Given the description of an element on the screen output the (x, y) to click on. 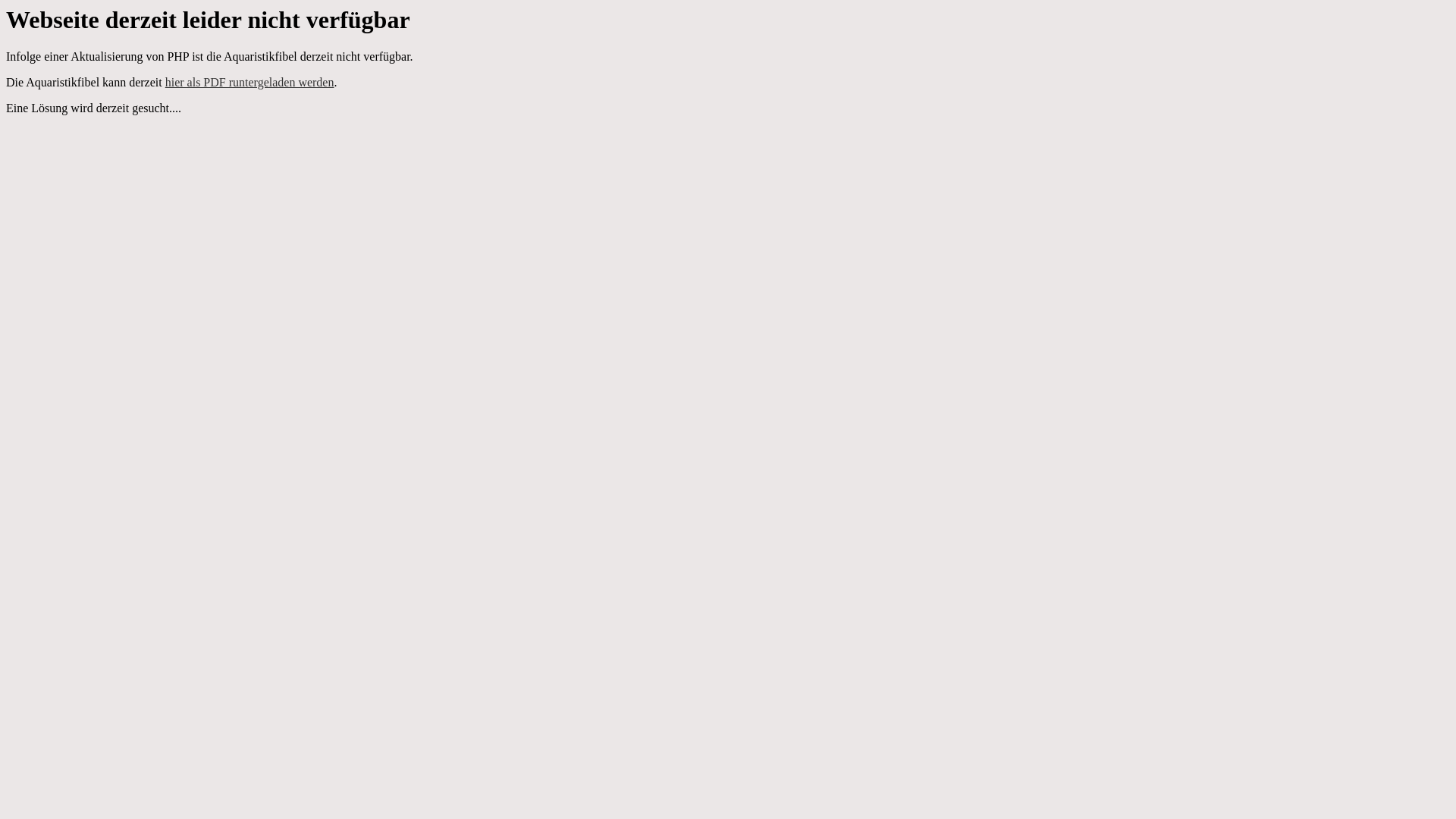
hier als PDF runtergeladen werden Element type: text (249, 81)
